Given the description of an element on the screen output the (x, y) to click on. 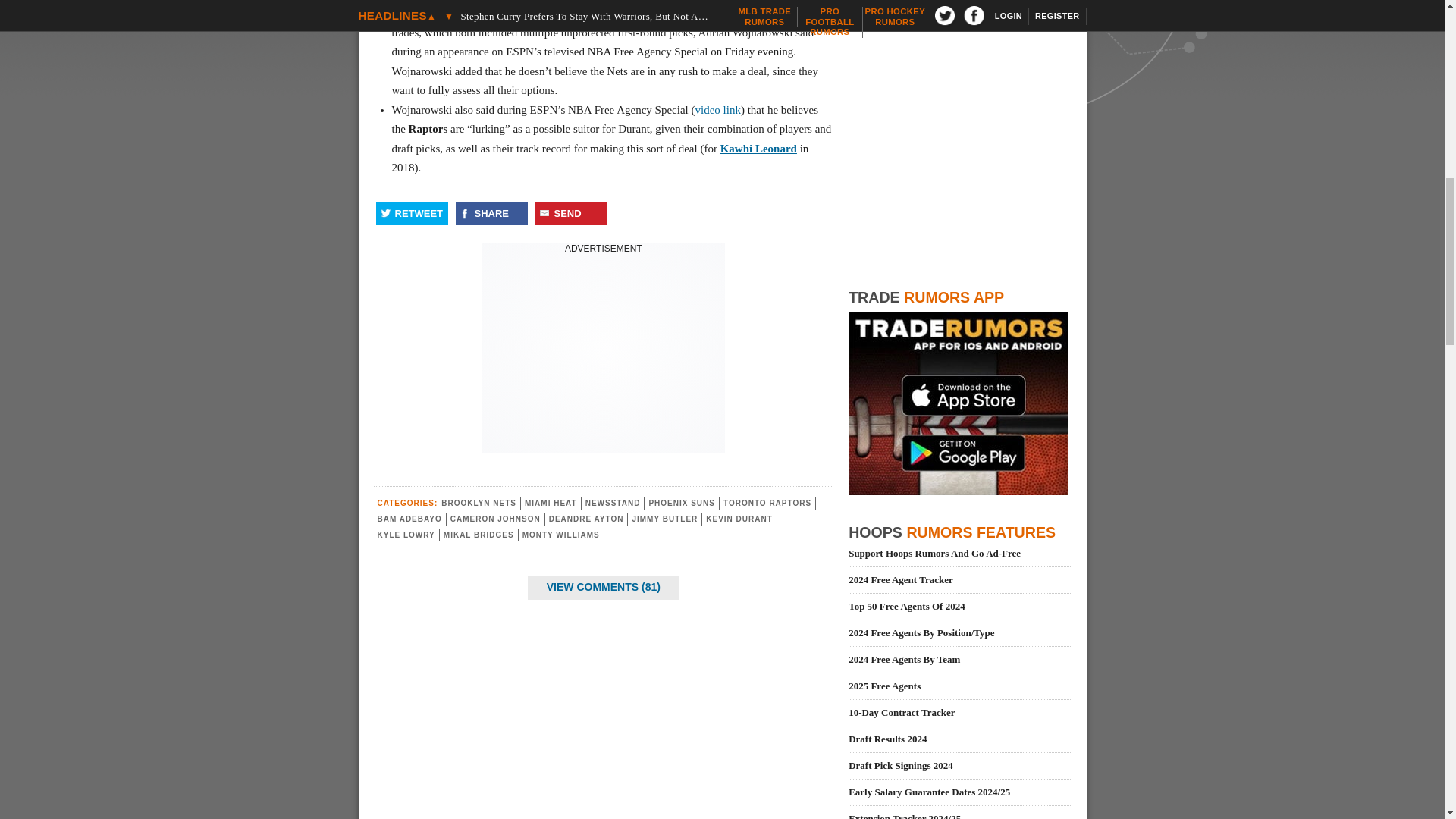
3rd party ad content (603, 350)
View all posts in Newsstand (612, 502)
View all posts in Bam Adebayo (409, 519)
View all posts in Miami Heat (550, 502)
View all posts in Brooklyn Nets (478, 502)
View all posts in Jimmy Butler (664, 519)
View all posts in Deandre Ayton (586, 519)
Send Latest On Kevin Durant with an email (571, 213)
Share 'Latest On Kevin Durant' on Facebook (490, 213)
View all posts in Cameron Johnson (494, 519)
View all posts in Toronto Raptors (766, 502)
Retweet 'Latest On Kevin Durant' on Twitter (411, 213)
View all posts in Phoenix Suns (680, 502)
View all posts in Kyle Lowry (406, 534)
View all posts in Kevin Durant (739, 519)
